Given the description of an element on the screen output the (x, y) to click on. 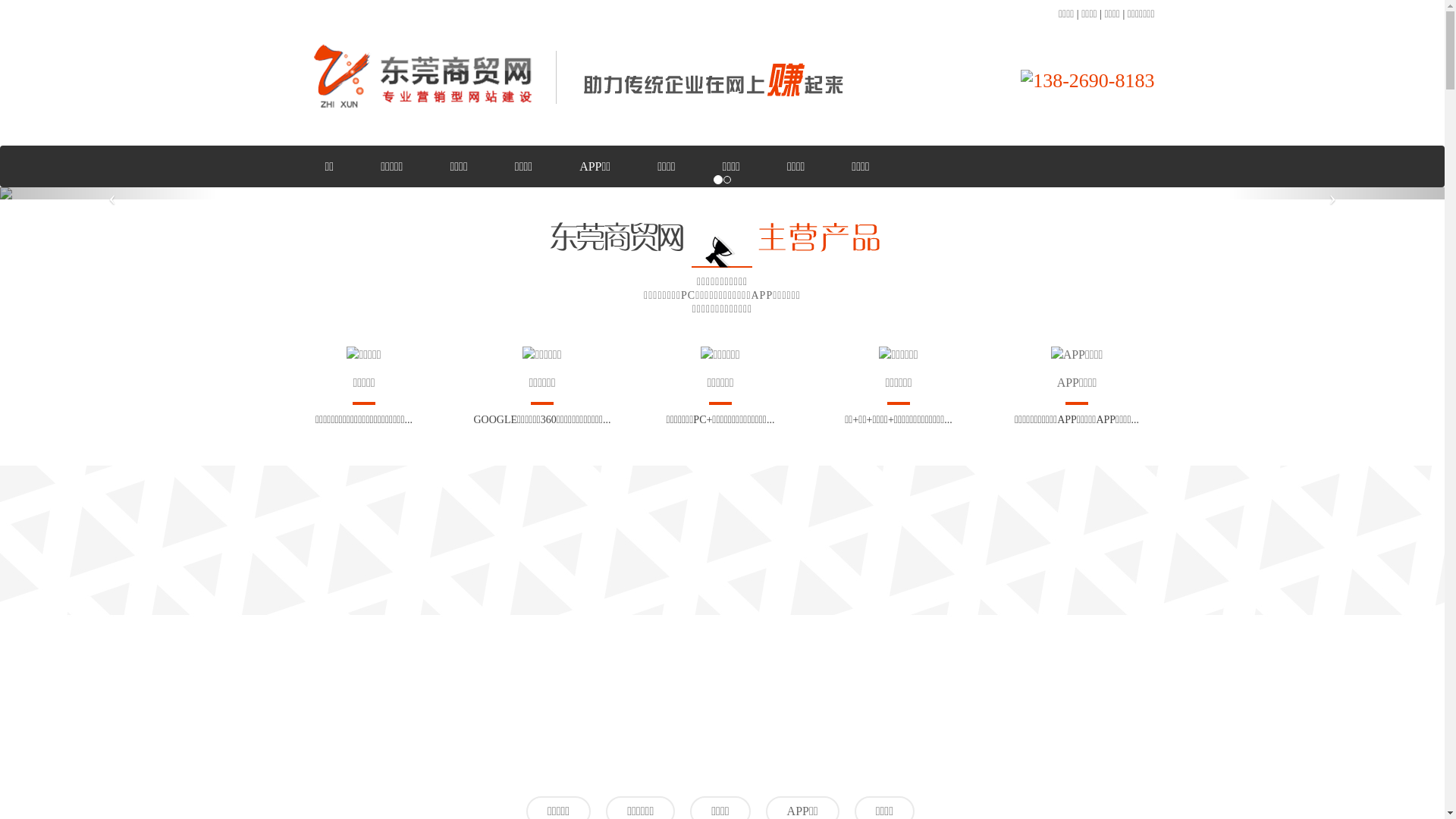
banner4 Element type: hover (722, 193)
